Given the description of an element on the screen output the (x, y) to click on. 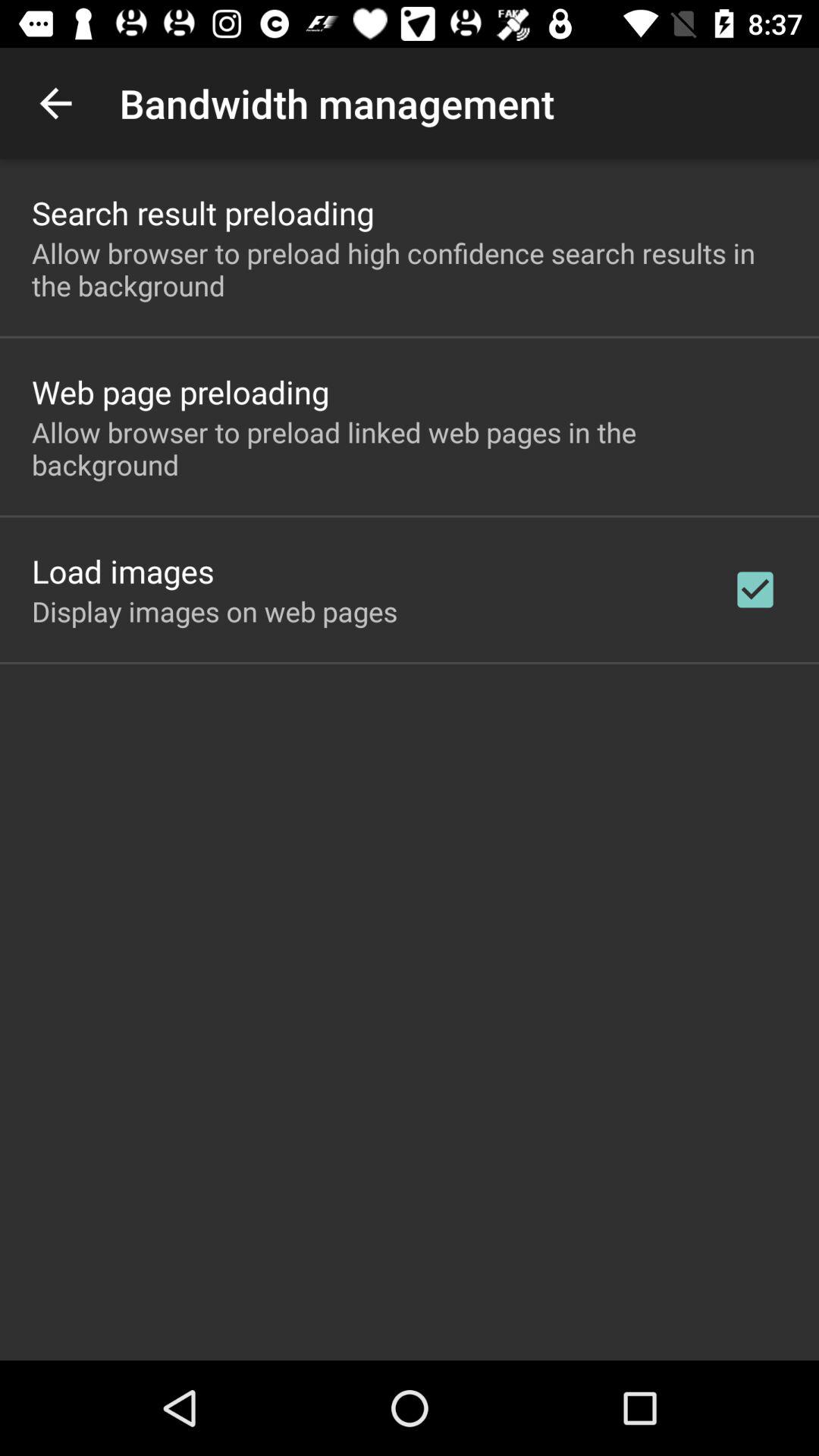
launch the web page preloading (180, 391)
